Given the description of an element on the screen output the (x, y) to click on. 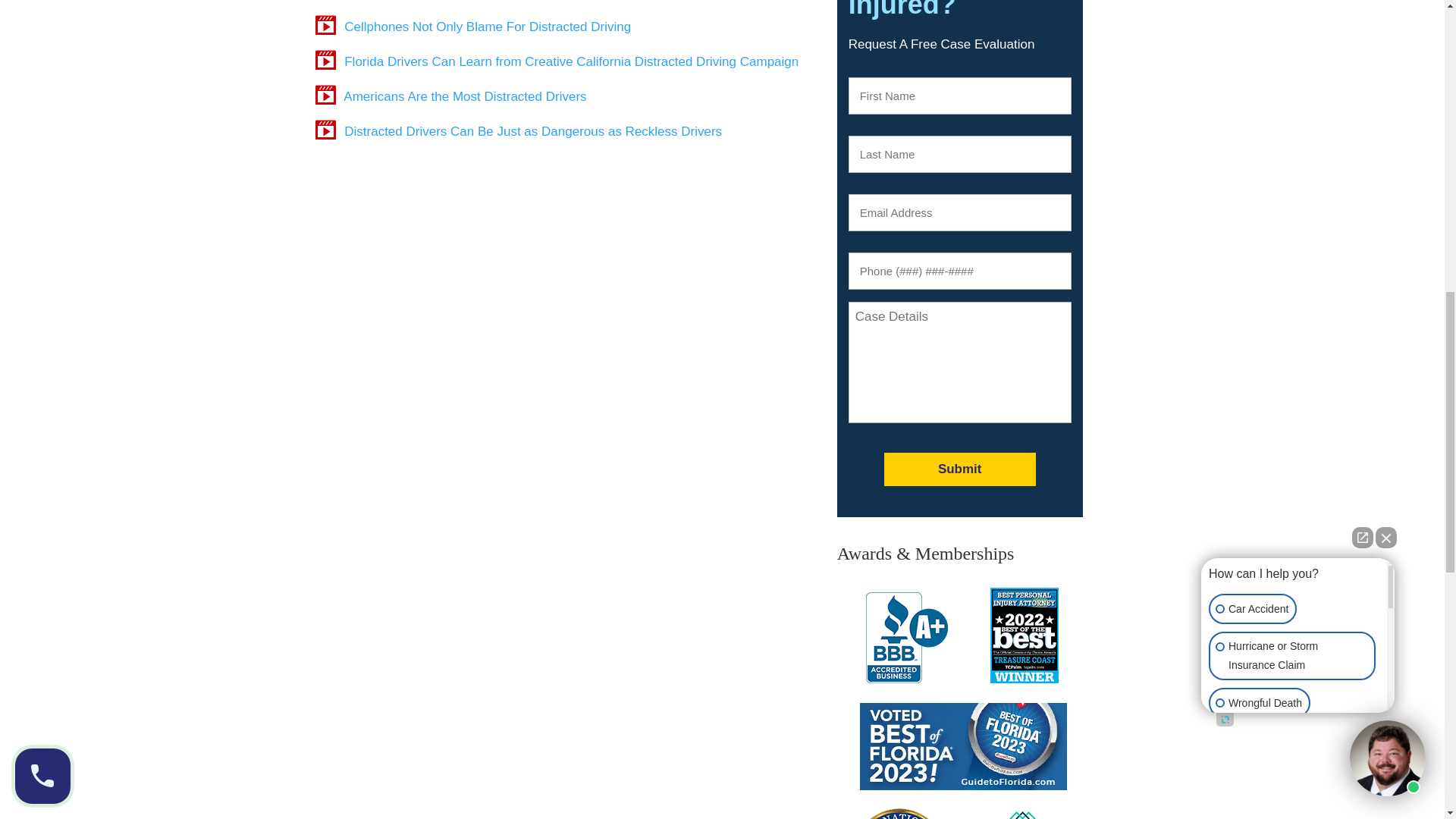
Submit (959, 469)
